Given the description of an element on the screen output the (x, y) to click on. 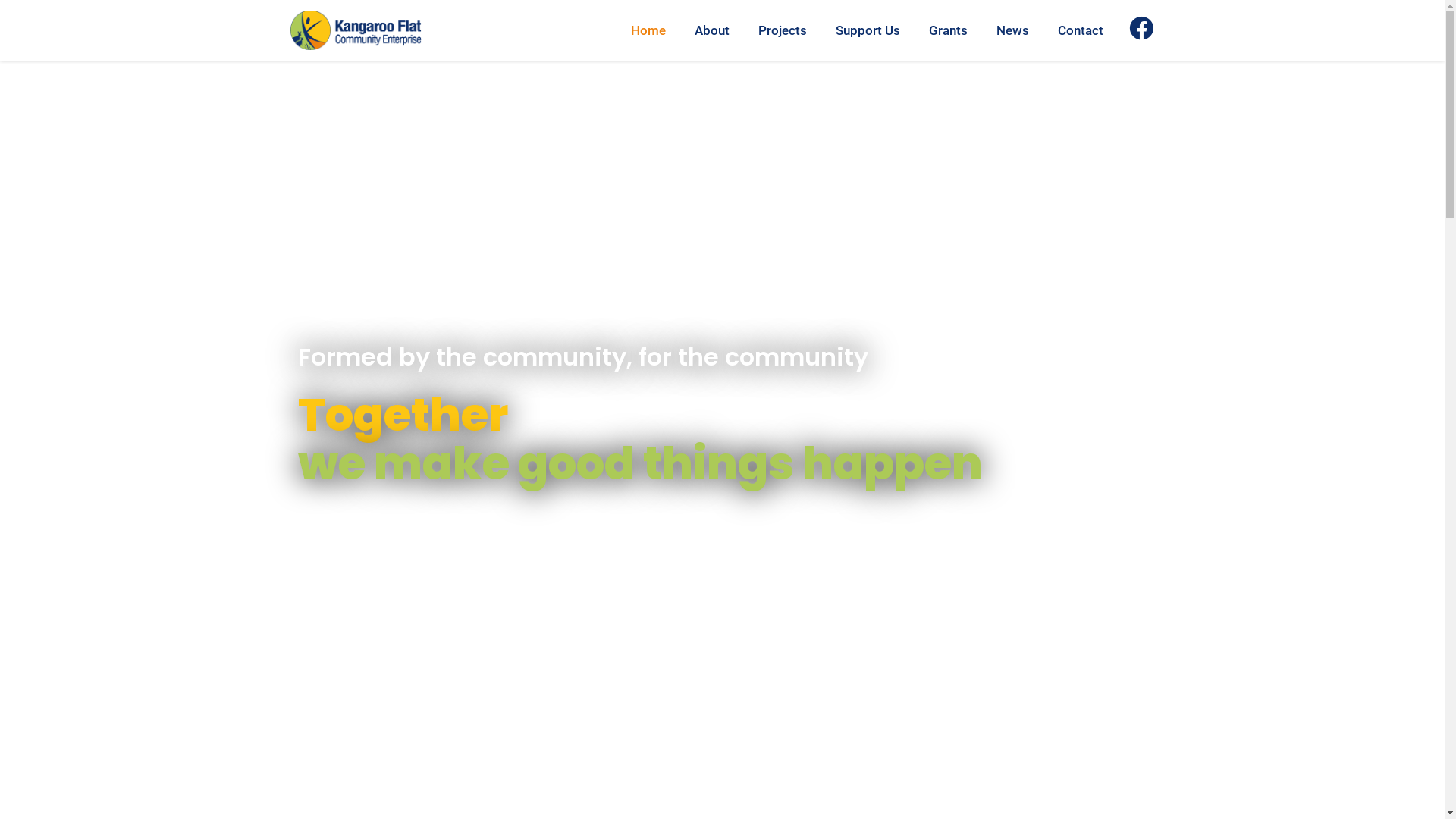
Home Element type: text (647, 30)
Support Us Element type: text (867, 30)
Contact Element type: text (1080, 30)
News Element type: text (1012, 30)
About Element type: text (711, 30)
Projects Element type: text (782, 30)
Grants Element type: text (947, 30)
